Given the description of an element on the screen output the (x, y) to click on. 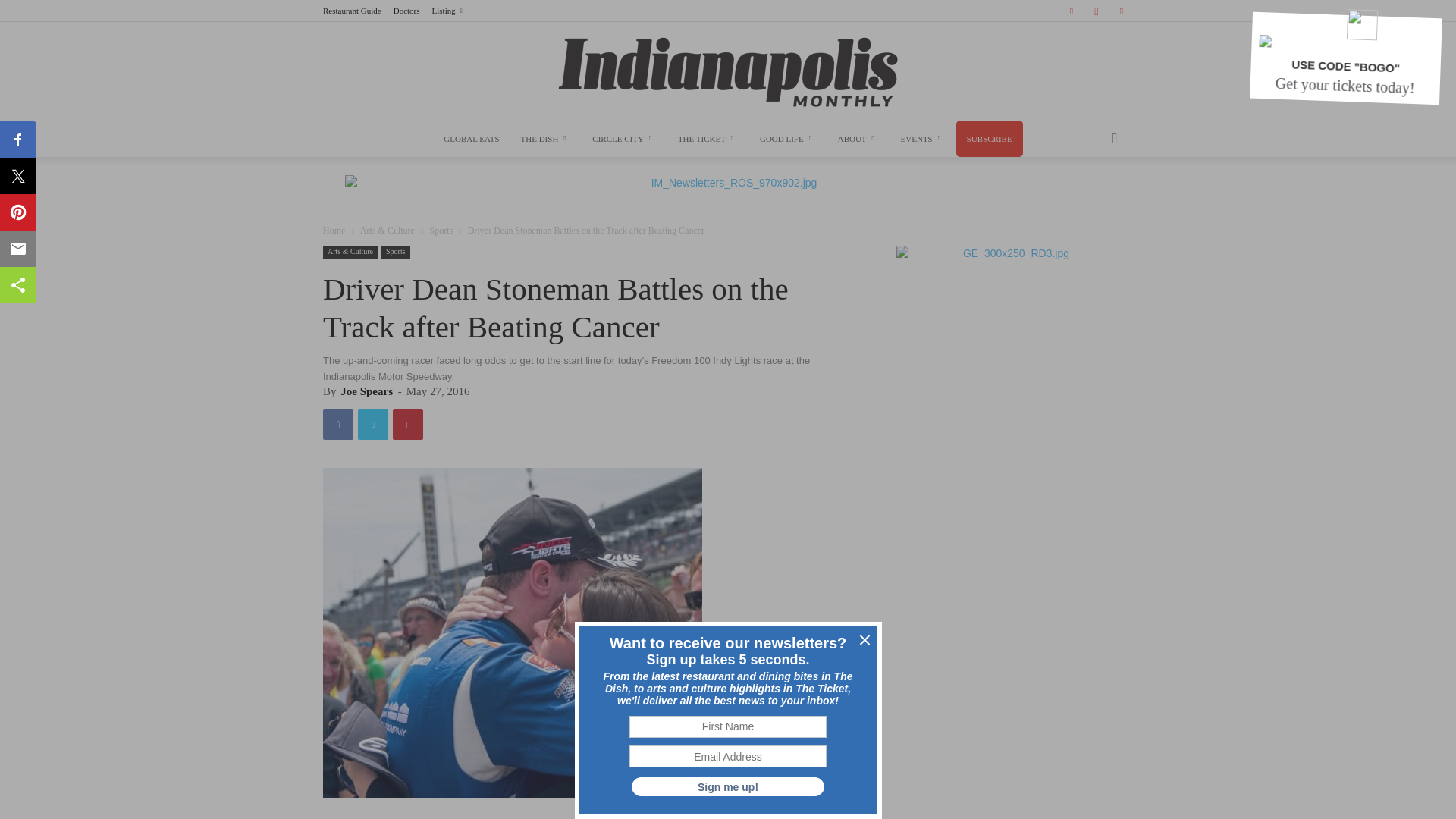
View all posts in Sports (440, 230)
Instagram (1096, 10)
Posts by Joe Spears (366, 390)
Facebook (1071, 10)
Dean Stoneman (512, 632)
Twitter (1120, 10)
